Given the description of an element on the screen output the (x, y) to click on. 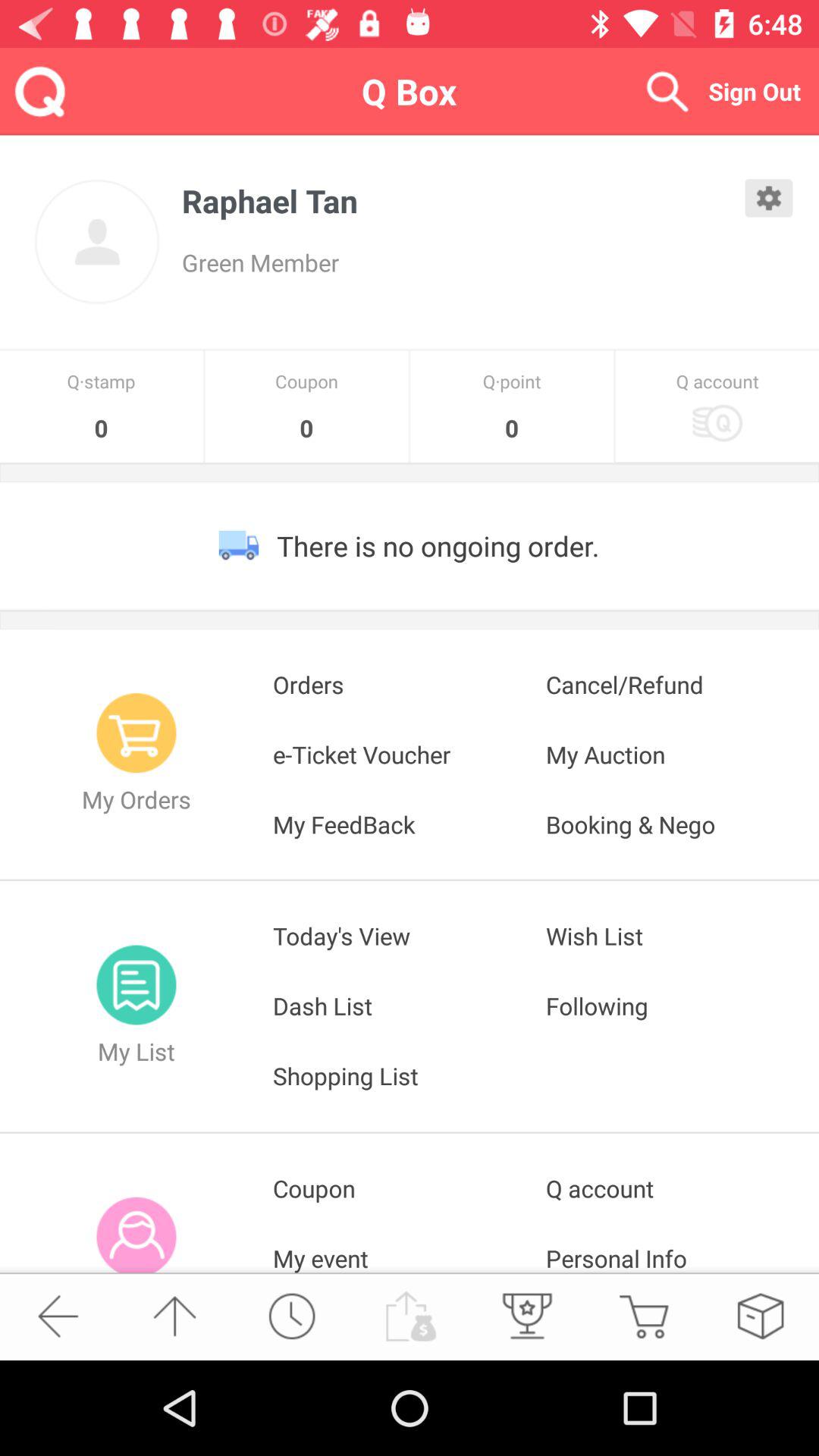
launch item below the my event icon (408, 1316)
